Given the description of an element on the screen output the (x, y) to click on. 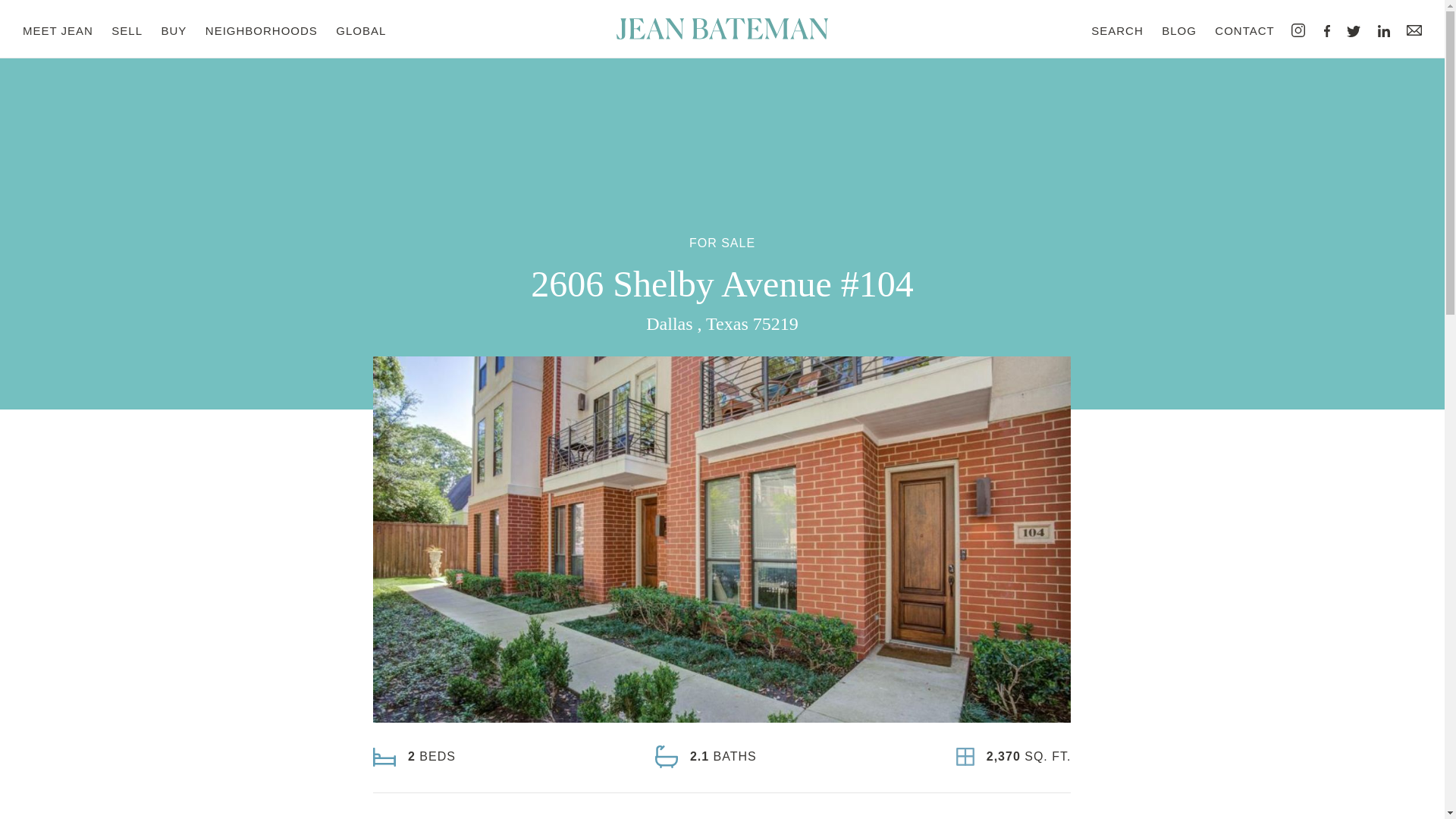
NEIGHBORHOODS (261, 30)
BUY (174, 30)
SELL (127, 30)
MEET JEAN (58, 30)
GLOBAL (360, 30)
CONTACT (1244, 30)
SEARCH (1116, 30)
Jean Bateman (721, 28)
BLOG (1178, 30)
